Given the description of an element on the screen output the (x, y) to click on. 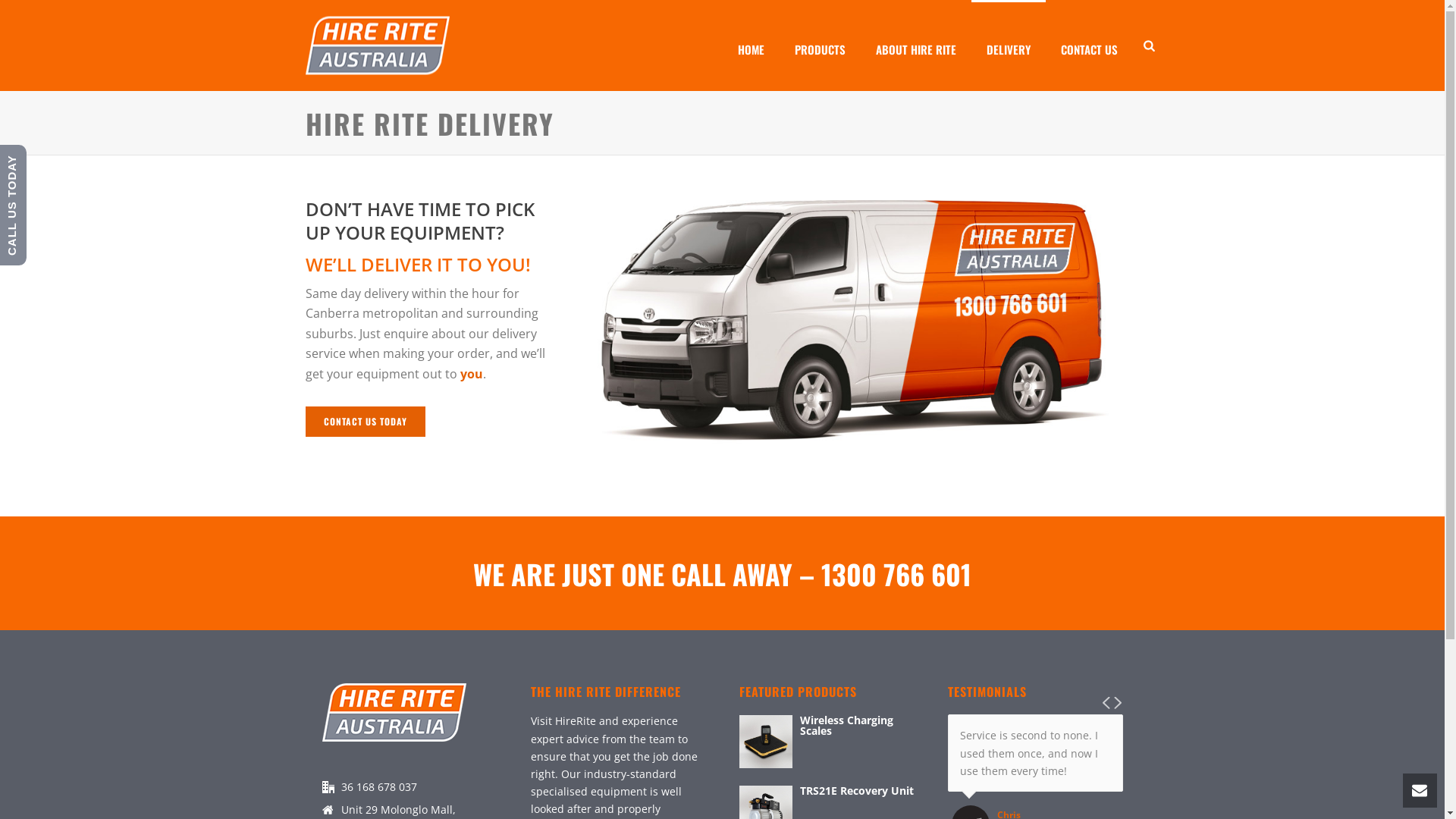
CONTACT US TODAY Element type: text (364, 421)
PRODUCTS Element type: text (819, 45)
CONTACT US Element type: text (1088, 45)
Wireless Charging Scales Element type: text (825, 725)
HOME Element type: text (750, 45)
TRS21E Recovery Unit Element type: text (825, 790)
DELIVERY Element type: text (1008, 45)
HVAC/R Tools for Daily or Weekly Hire Element type: hover (376, 45)
ABOUT HIRE RITE Element type: text (915, 45)
